Given the description of an element on the screen output the (x, y) to click on. 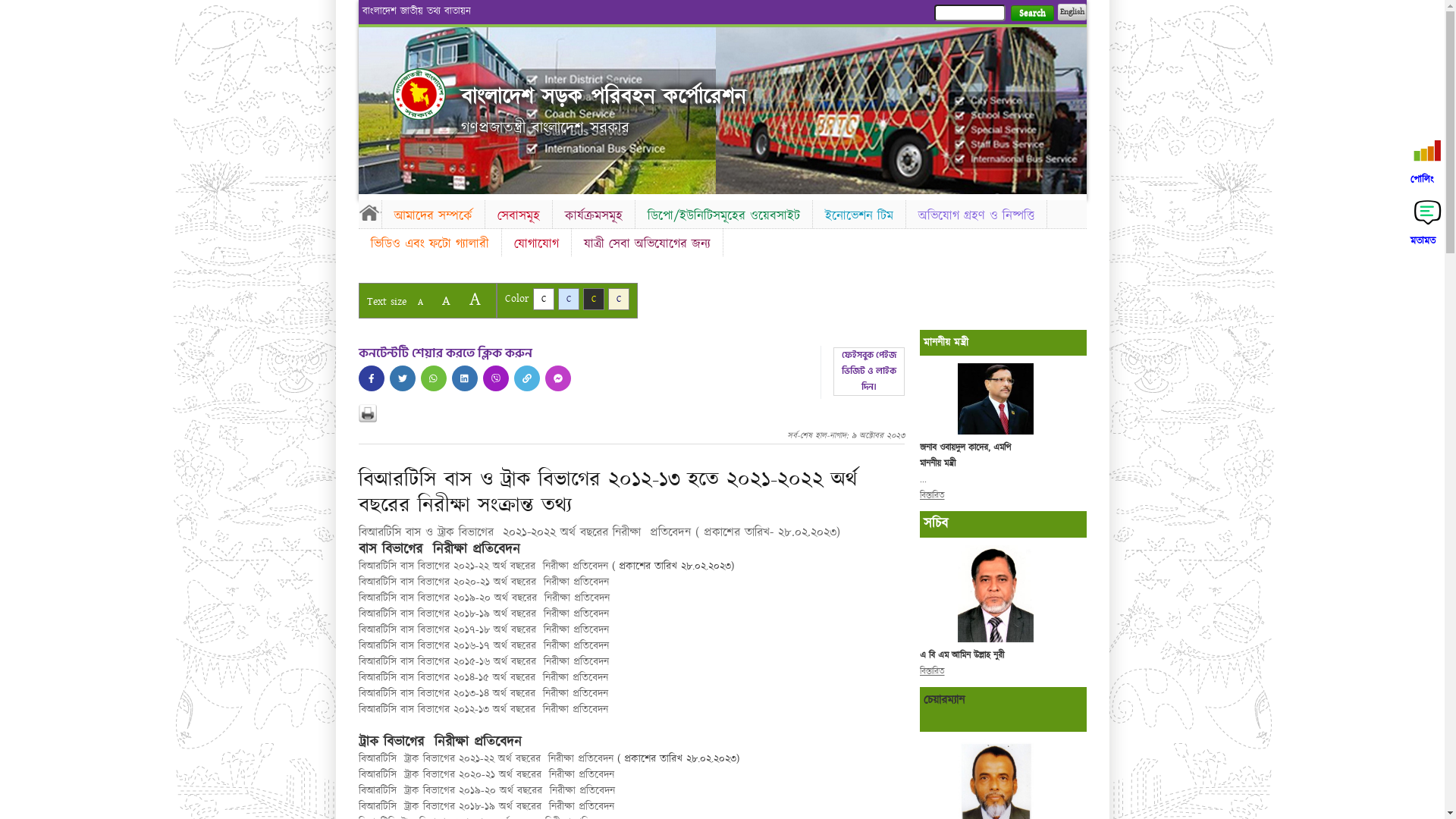
Home Element type: hover (368, 211)
Home Element type: hover (418, 93)
English Element type: text (1071, 11)
C Element type: text (542, 299)
C Element type: text (618, 299)
C Element type: text (568, 299)
Search Element type: text (1031, 13)
A Element type: text (474, 298)
A Element type: text (419, 301)
C Element type: text (592, 299)
A Element type: text (445, 300)
